Given the description of an element on the screen output the (x, y) to click on. 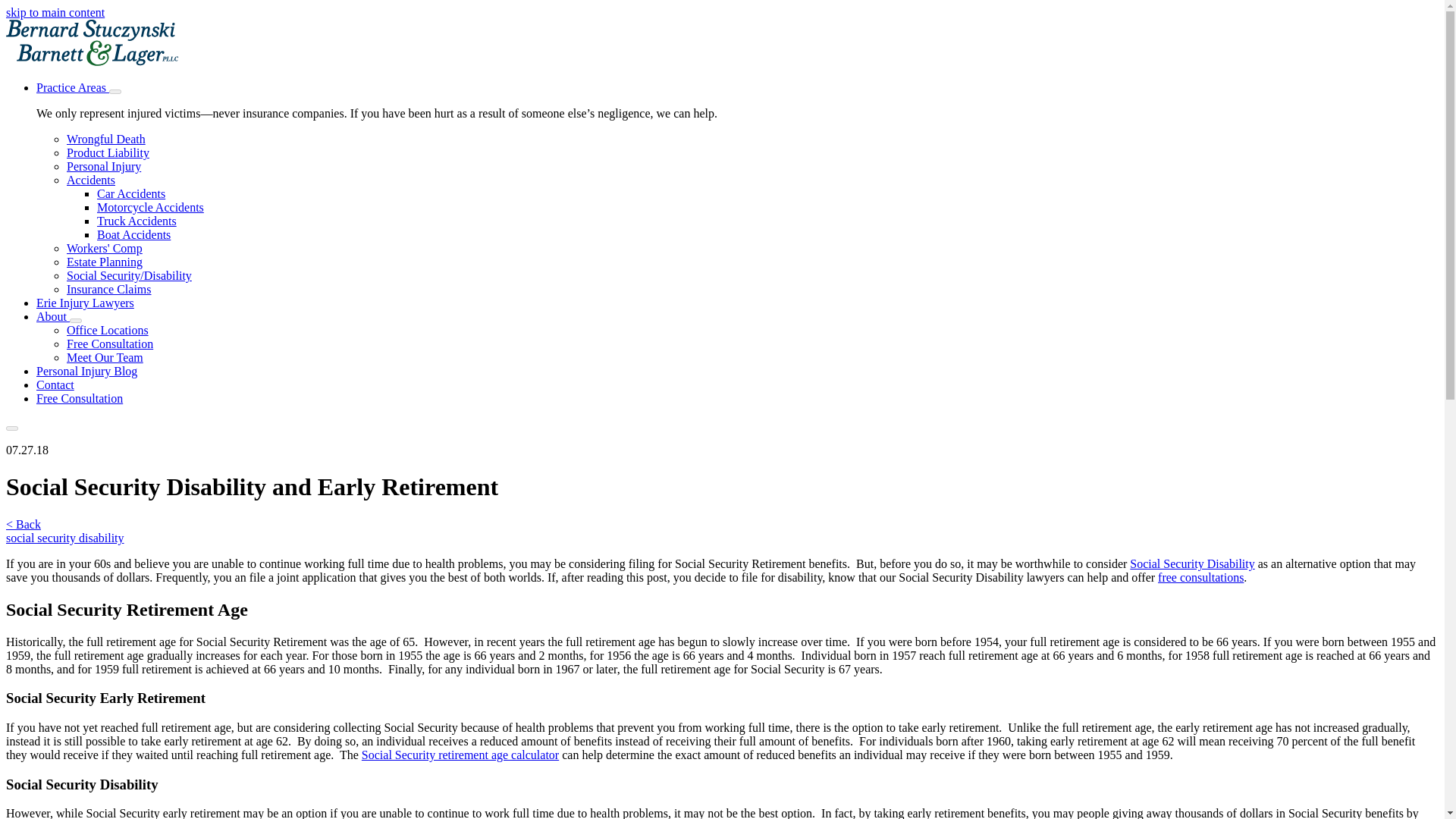
Meet Our Team (104, 357)
Truck Accidents (136, 220)
Social Security Disability (1191, 563)
Free Consultation (109, 343)
Erie Injury Lawyers (84, 302)
Estate Planning (104, 261)
Motorcycle Accidents (150, 206)
Contact (55, 384)
Workers' Comp (104, 247)
social security disability (64, 537)
Free Consultation (79, 398)
Personal Injury (103, 165)
Wrongful Death (105, 138)
Insurance Claims (108, 288)
Accidents (90, 179)
